Given the description of an element on the screen output the (x, y) to click on. 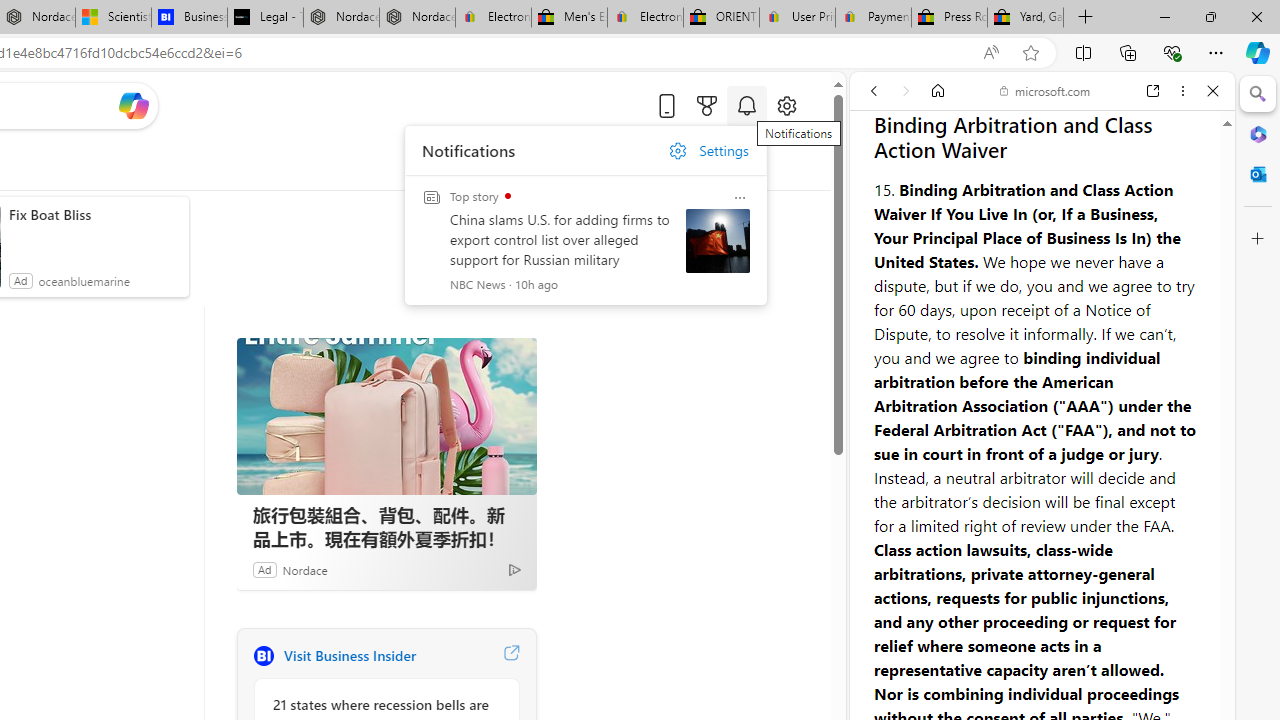
New Tab (1085, 17)
Press Room - eBay Inc. (948, 17)
Browser essentials (1171, 52)
Personalize (488, 162)
Notifications (746, 105)
Home (938, 91)
Search the web (1051, 137)
Minimize Search pane (1258, 94)
Back (874, 91)
Open Copilot (132, 105)
